Given the description of an element on the screen output the (x, y) to click on. 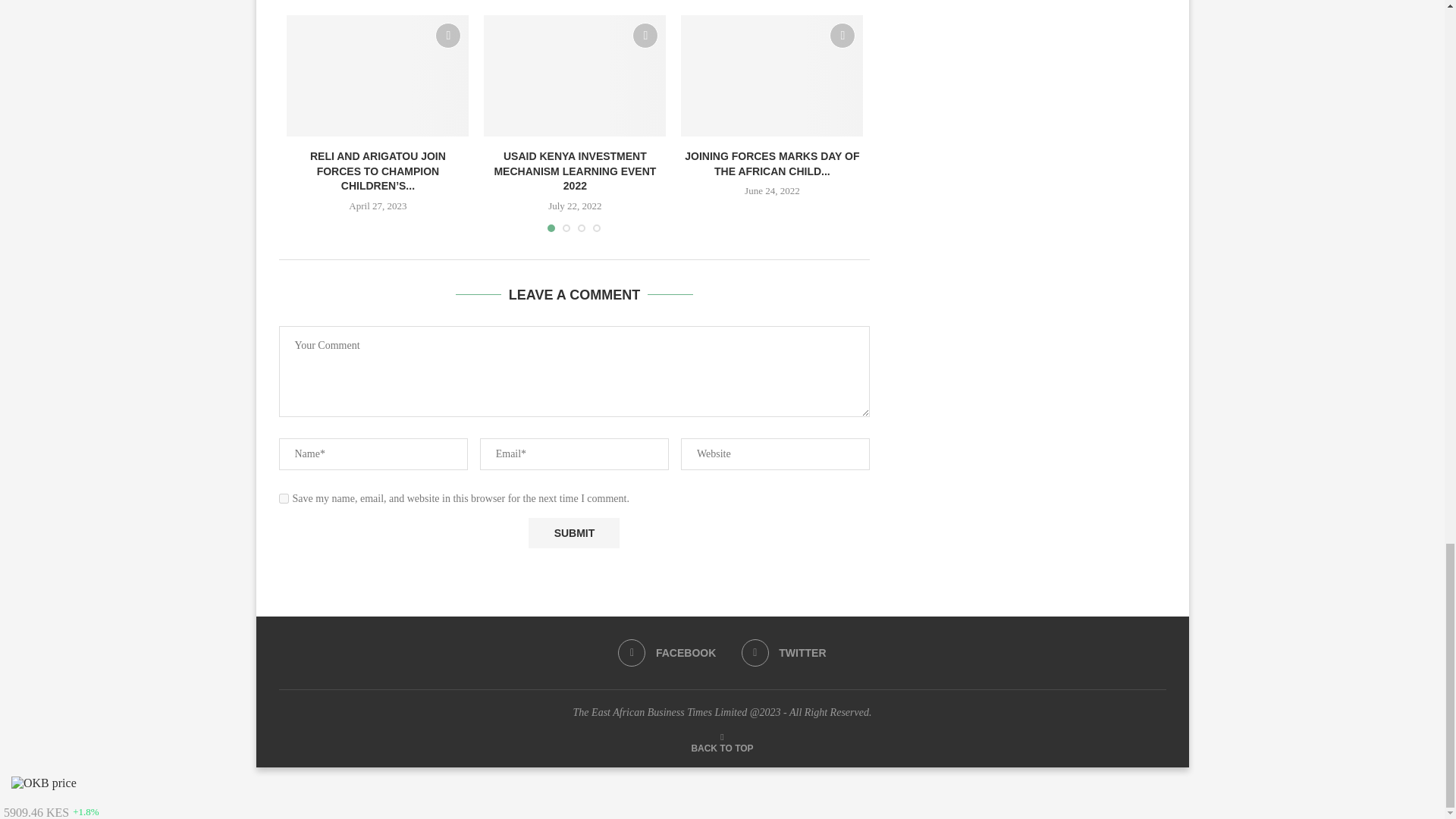
yes (283, 498)
Submit (574, 532)
USAID Kenya Investment Mechanism Learning Event 2022 (574, 75)
